Given the description of an element on the screen output the (x, y) to click on. 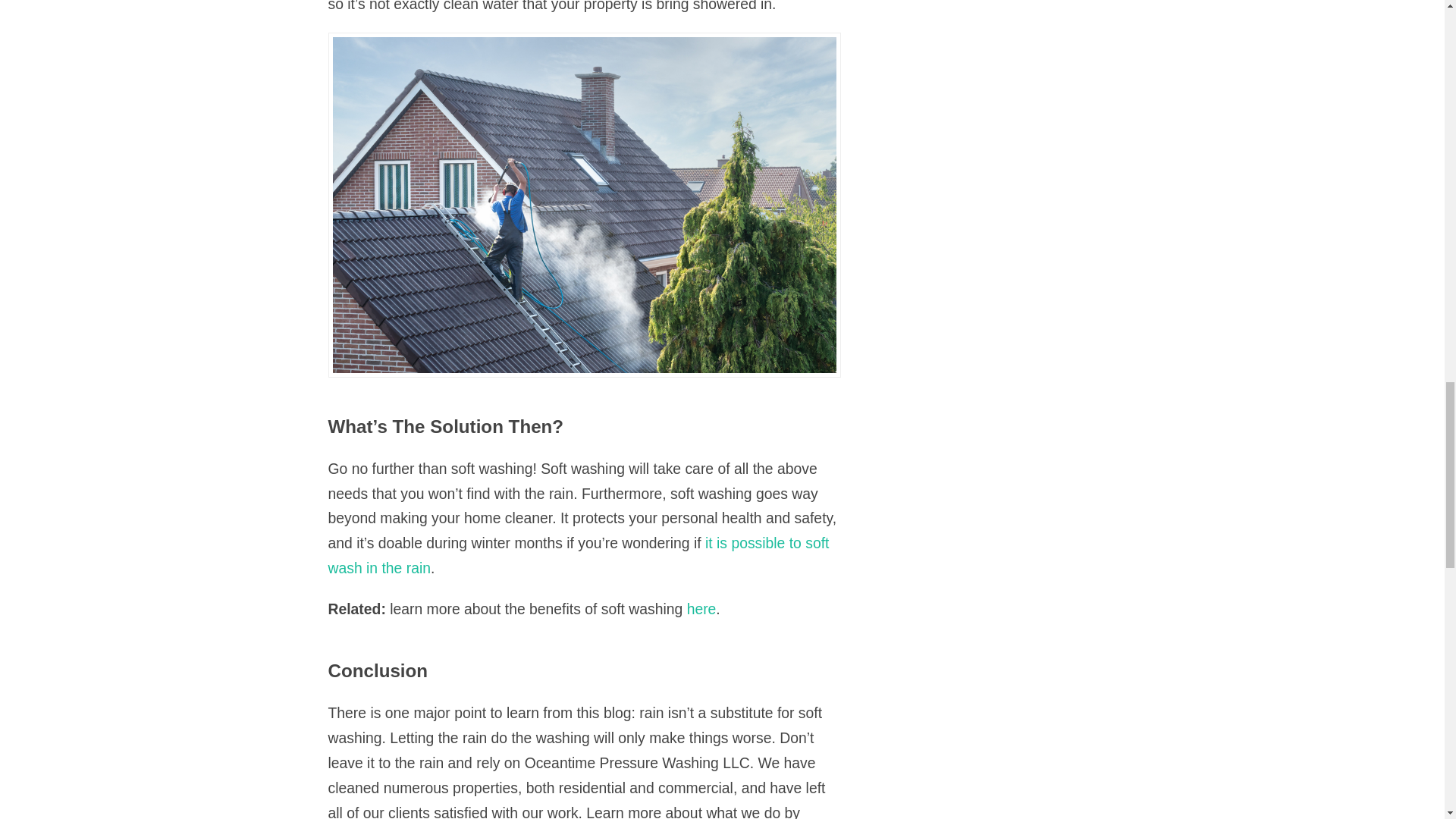
it is possible to soft wash in the rain (577, 555)
here (701, 608)
